Given the description of an element on the screen output the (x, y) to click on. 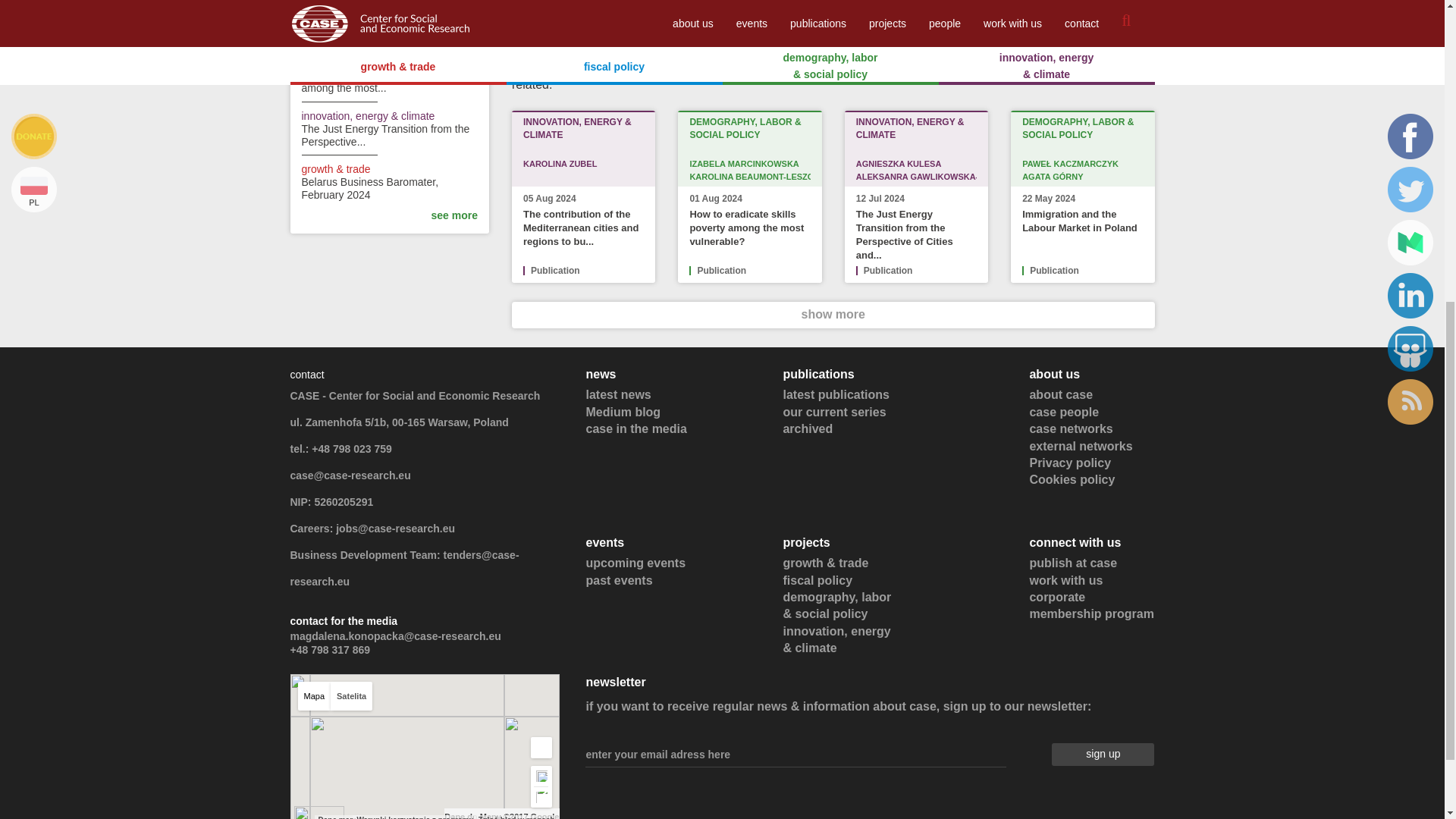
KAROLINA ZUBEL (582, 168)
The contribution of the Mediterranean cities an... (360, 27)
Belarus Business Baromater, February 2024 (370, 188)
IZABELA MARCINKOWSKA (742, 163)
Belarus Business Baromater, February 2024 (370, 188)
How to eradicate skills poverty among the most vulnerable? (745, 227)
Tweet (547, 5)
KAROLINA ZUBEL (559, 163)
